Given the description of an element on the screen output the (x, y) to click on. 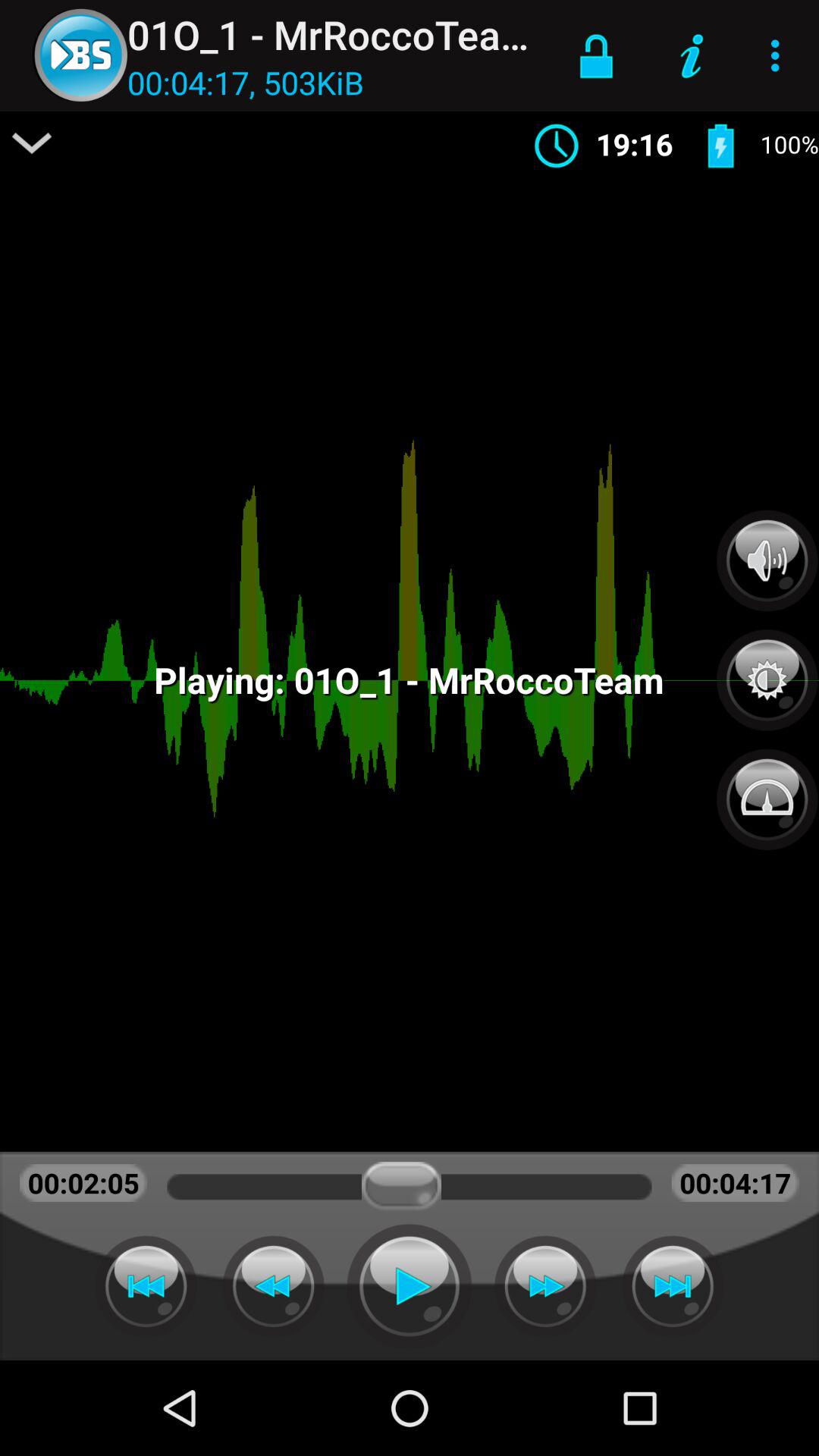
adjust sound (767, 560)
